Given the description of an element on the screen output the (x, y) to click on. 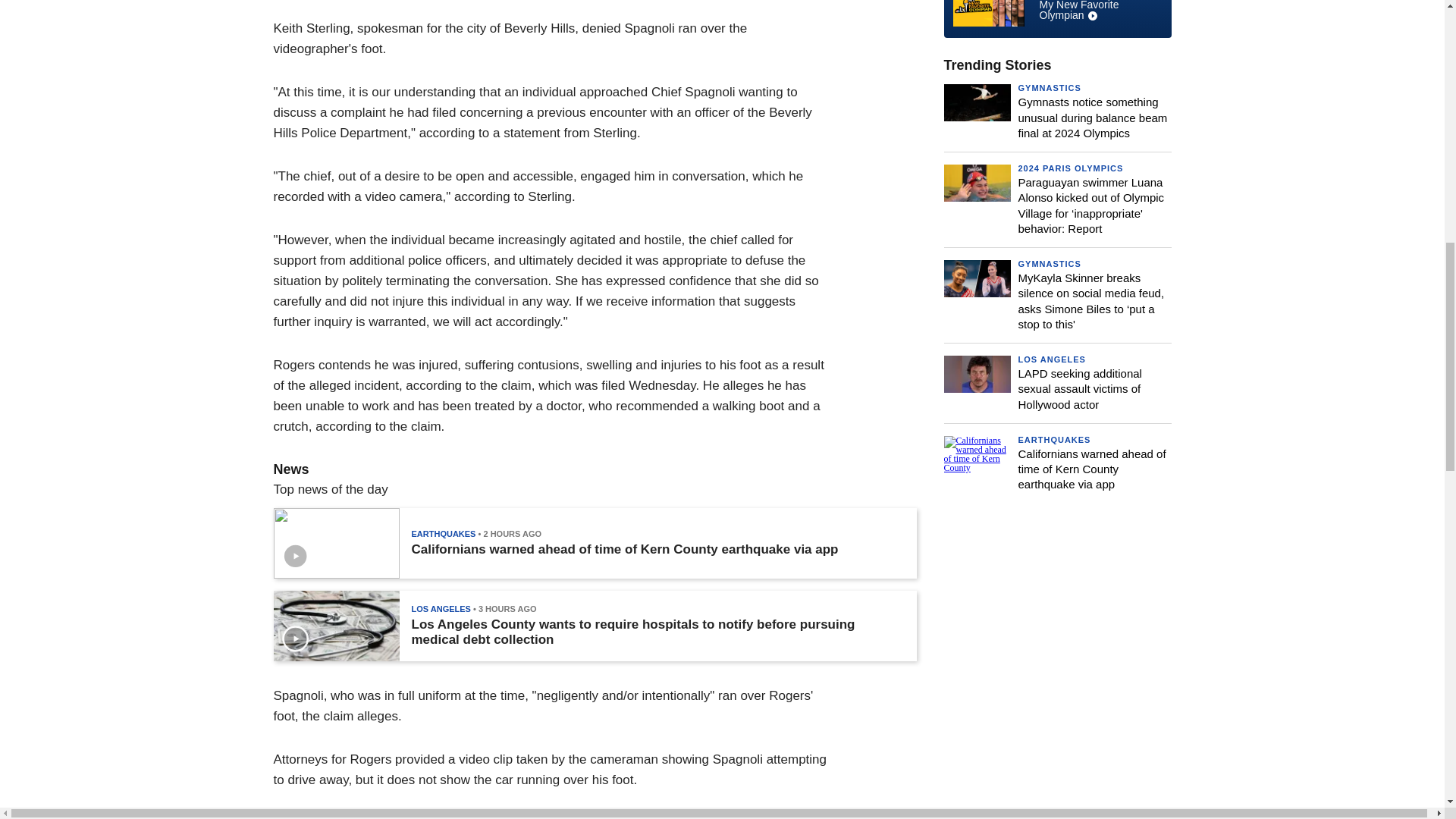
EARTHQUAKES (443, 533)
GYMNASTICS (1056, 14)
LOS ANGELES (1048, 87)
